Given the description of an element on the screen output the (x, y) to click on. 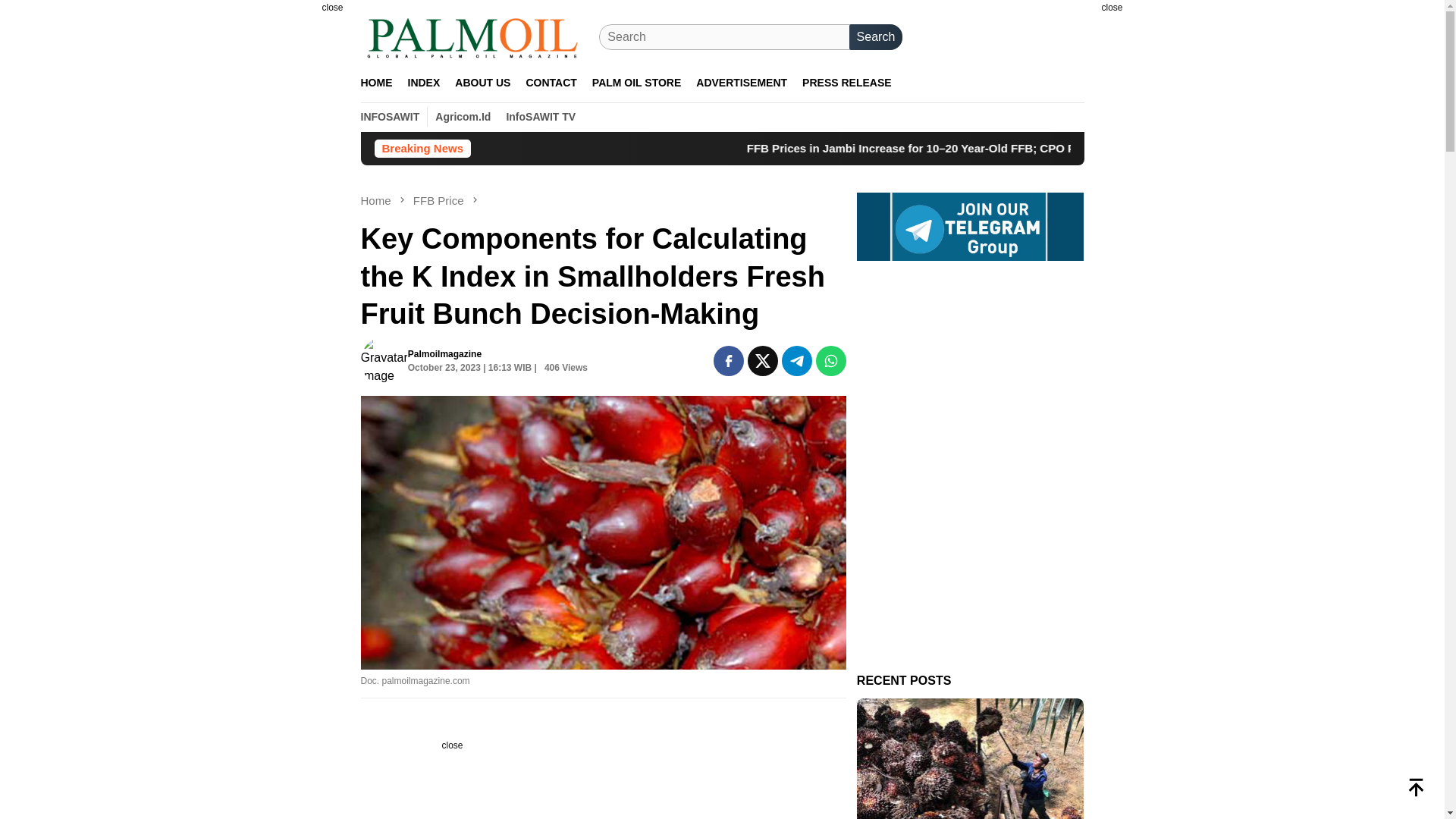
close (331, 7)
InfoSAWIT TV (540, 116)
Share this (728, 360)
INFOSAWIT (390, 116)
Tweet this (762, 360)
FFB Price (440, 200)
close (331, 7)
Telegram Share (796, 360)
close (1111, 7)
Palmoilmagazine.com (473, 36)
